Given the description of an element on the screen output the (x, y) to click on. 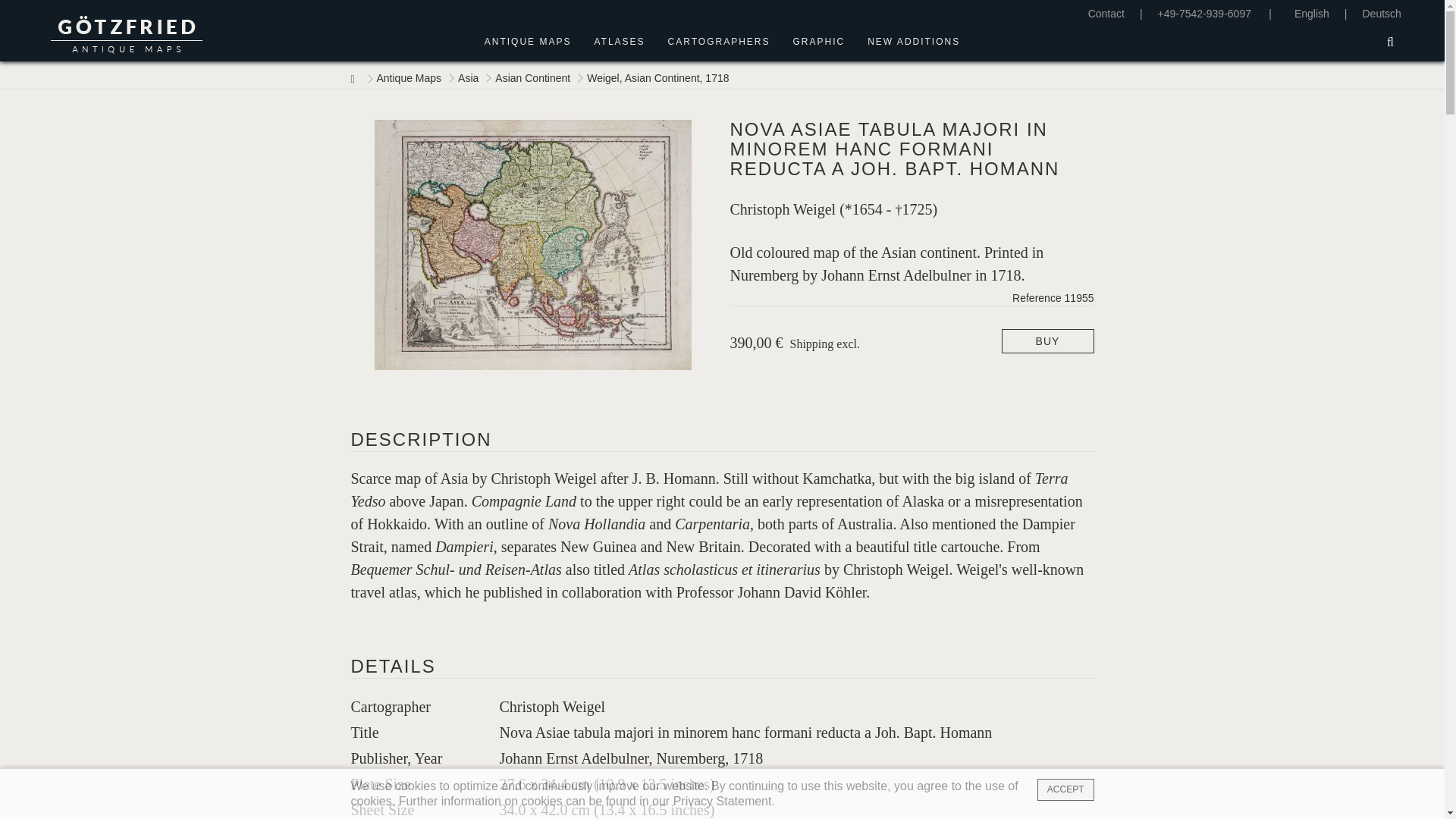
Contact (1105, 13)
ANTIQUE MAPS (533, 42)
Deutsch (1380, 13)
Contact (1105, 13)
